Given the description of an element on the screen output the (x, y) to click on. 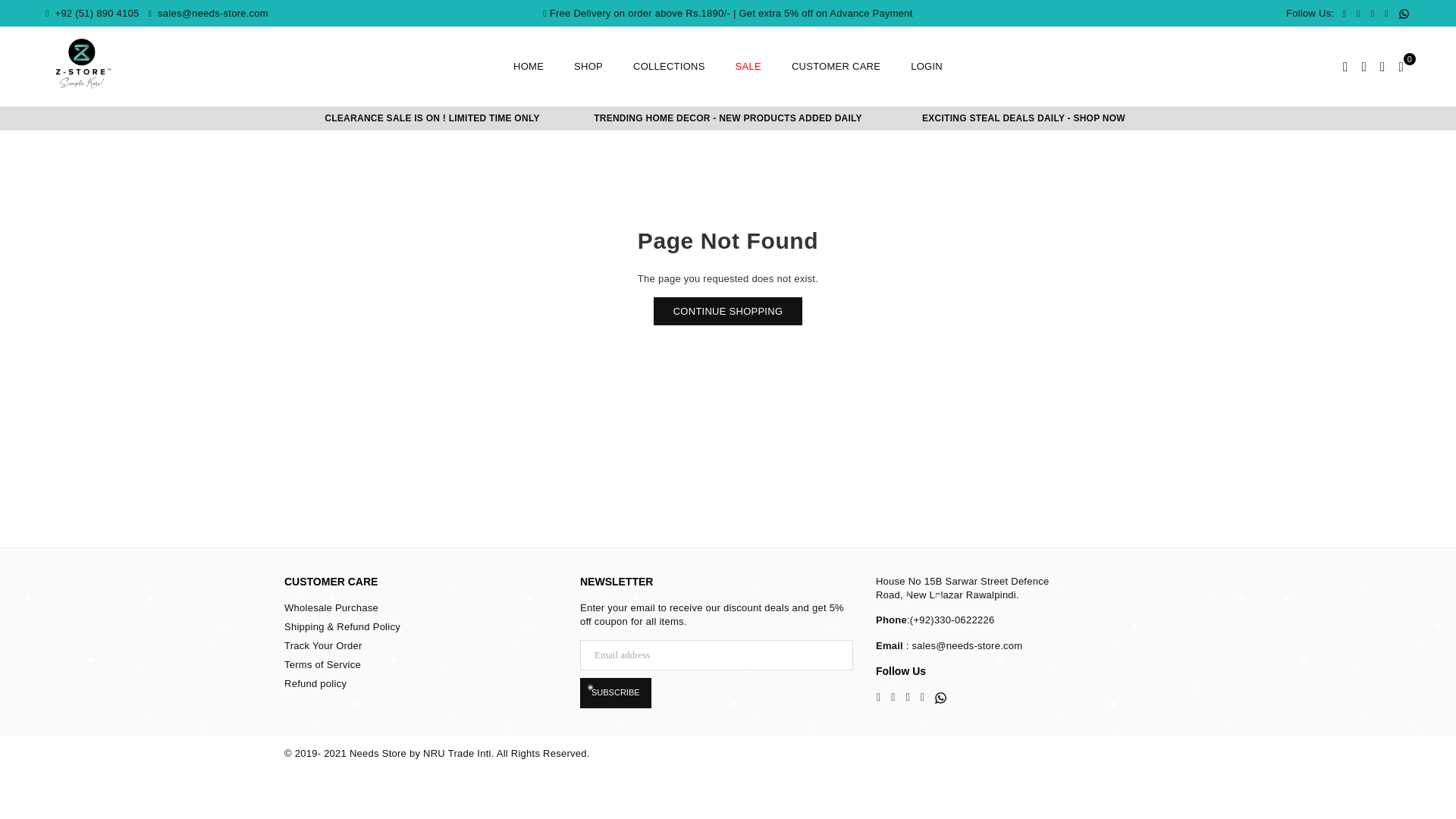
Needs Store on Whatsapp (1403, 13)
Pinterest (1372, 13)
Needs Store on Whatsapp (941, 697)
Whatsapp (1403, 13)
NEEDS STORE (82, 64)
Needs Store on Facebook (1343, 13)
Instagram (1385, 13)
Needs Store on Instagram (1385, 13)
HOME (528, 66)
Needs Store on Pinterest (1372, 13)
